Given the description of an element on the screen output the (x, y) to click on. 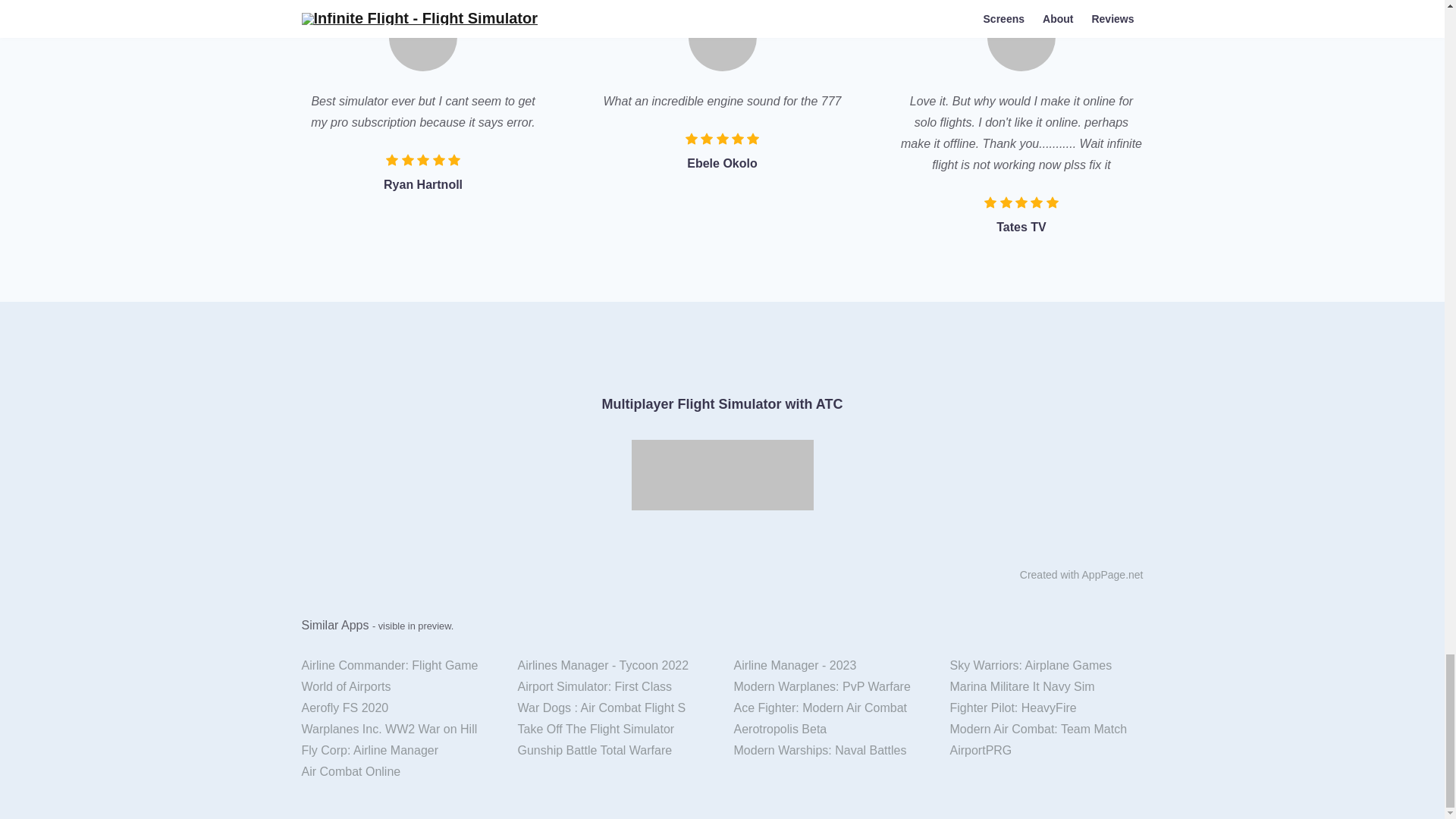
Airline Manager - 2023 (829, 665)
Airport Simulator: First Class (614, 686)
Aerofly FS 2020 (397, 708)
Aerotropolis Beta (829, 729)
World of Airports (397, 686)
Sky Warriors: Airplane Games (1046, 665)
Fly Corp: Airline Manager (397, 750)
Warplanes Inc. WW2 War on Hill (397, 729)
Ace Fighter: Modern Air Combat (829, 708)
Modern Warplanes: PvP Warfare (829, 686)
Take Off The Flight Simulator (614, 729)
War Dogs : Air Combat Flight S (614, 708)
AppPage.net (1111, 574)
Air Combat Online (397, 771)
Airline Commander: Flight Game (397, 665)
